Given the description of an element on the screen output the (x, y) to click on. 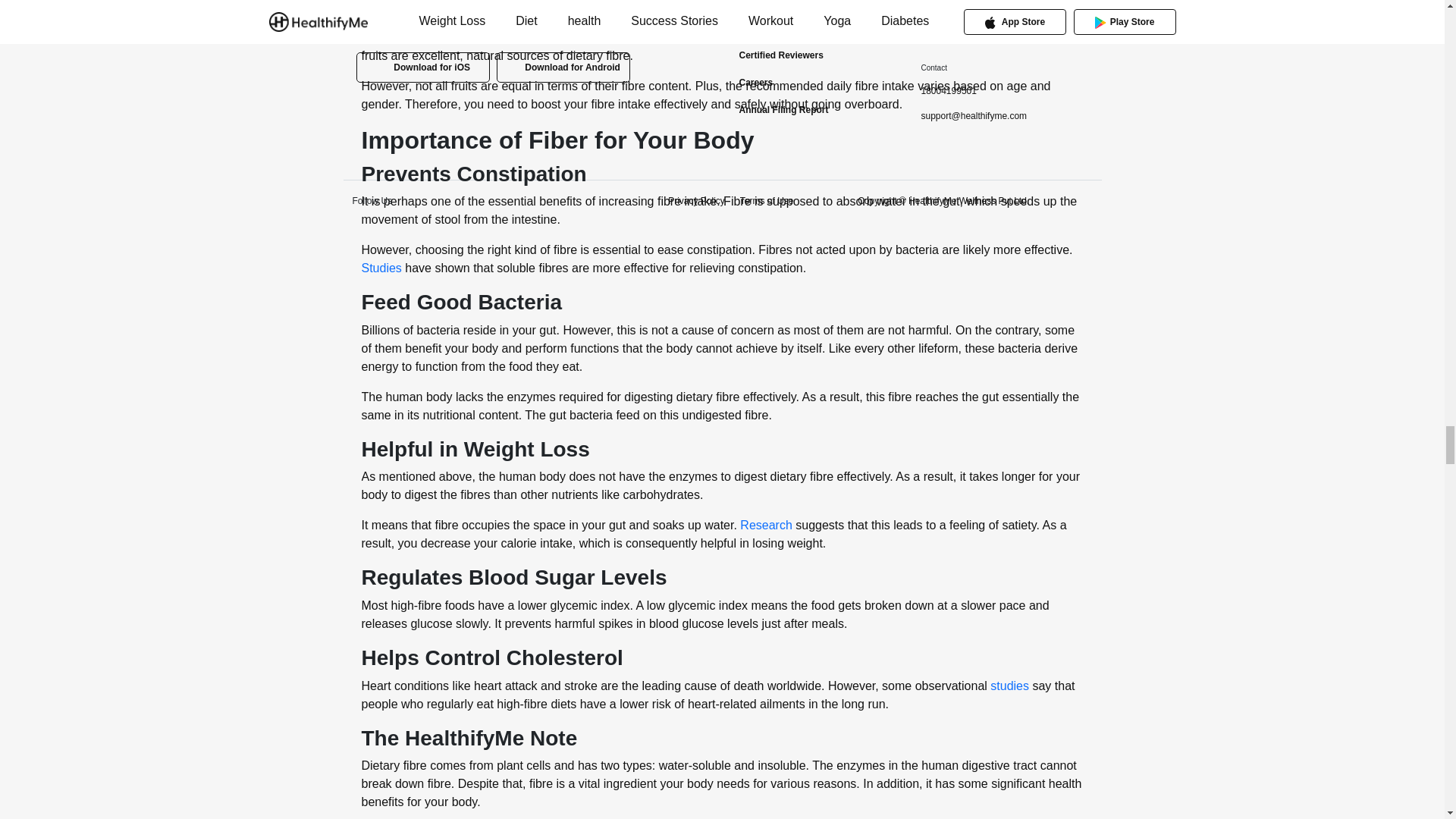
Research (765, 524)
studies (1009, 685)
Studies (381, 267)
